Given the description of an element on the screen output the (x, y) to click on. 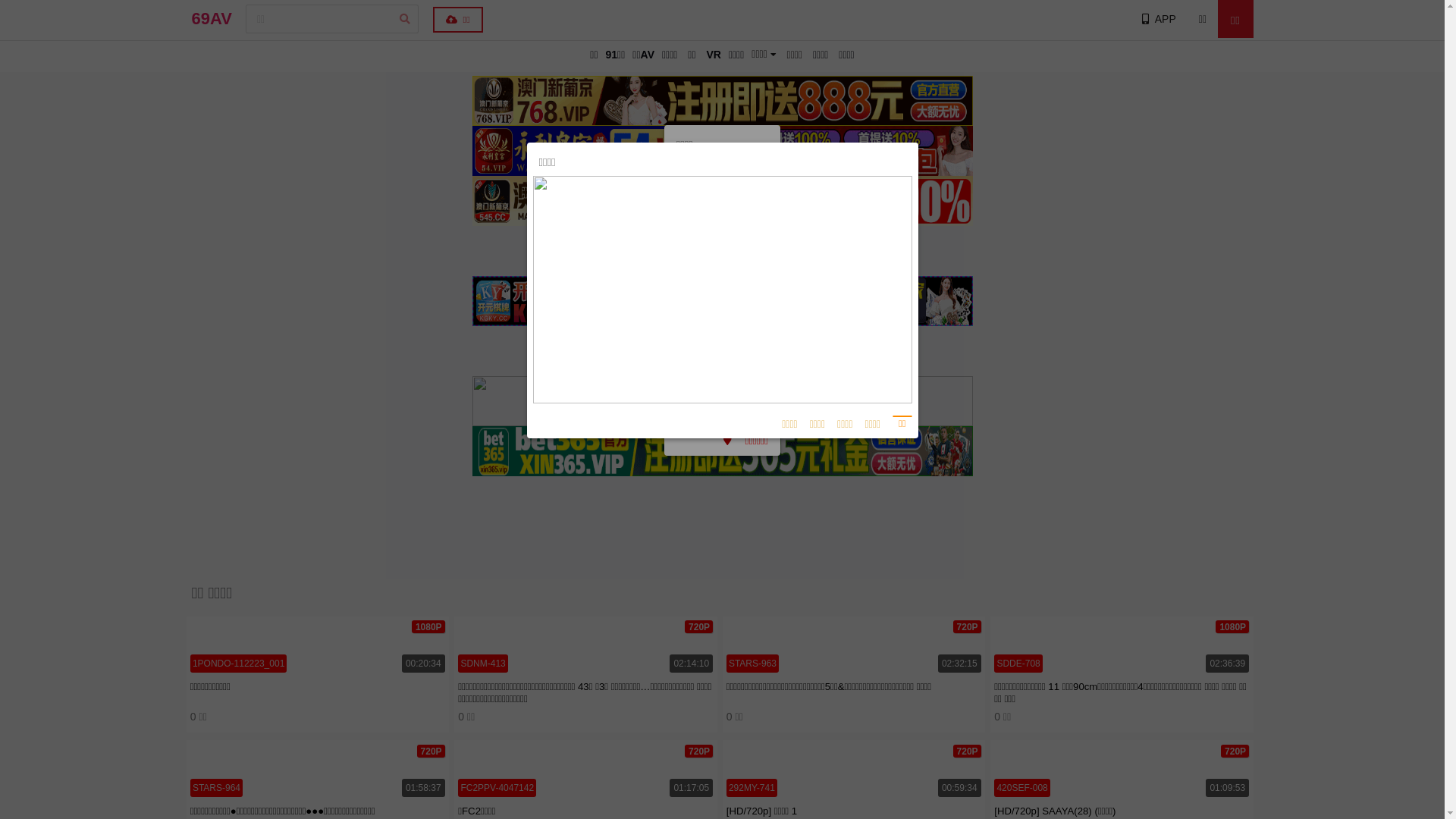
01:58:37
720P
STARS-964 Element type: text (317, 770)
https://69a8749.xyz Element type: text (722, 277)
02:14:10
720P
SDNM-413 Element type: text (585, 646)
https://69a8818.xyz Element type: text (722, 319)
https://69a8833.xyz Element type: text (722, 298)
https://69a8809.xyz Element type: text (722, 235)
https://69a8757.xyz Element type: text (722, 256)
https://69a8737.xyz Element type: text (722, 404)
00:59:34
720P
292MY-741 Element type: text (853, 770)
https://69a8807.xyz Element type: text (722, 362)
VR Element type: text (713, 54)
00:20:34
1080P
1PONDO-112223_001 Element type: text (317, 646)
01:09:53
720P
420SEF-008 Element type: text (1121, 770)
02:32:15
720P
STARS-963 Element type: text (853, 646)
APP Element type: text (1157, 18)
https://69a8868.xyz Element type: text (722, 341)
https://69a8822.xyz Element type: text (722, 213)
https://69a8877.xyz Element type: text (722, 383)
69AV Element type: text (211, 18)
01:17:05
720P
FC2PPV-4047142 Element type: text (585, 770)
02:36:39
1080P
SDDE-708 Element type: text (1121, 646)
